Given the description of an element on the screen output the (x, y) to click on. 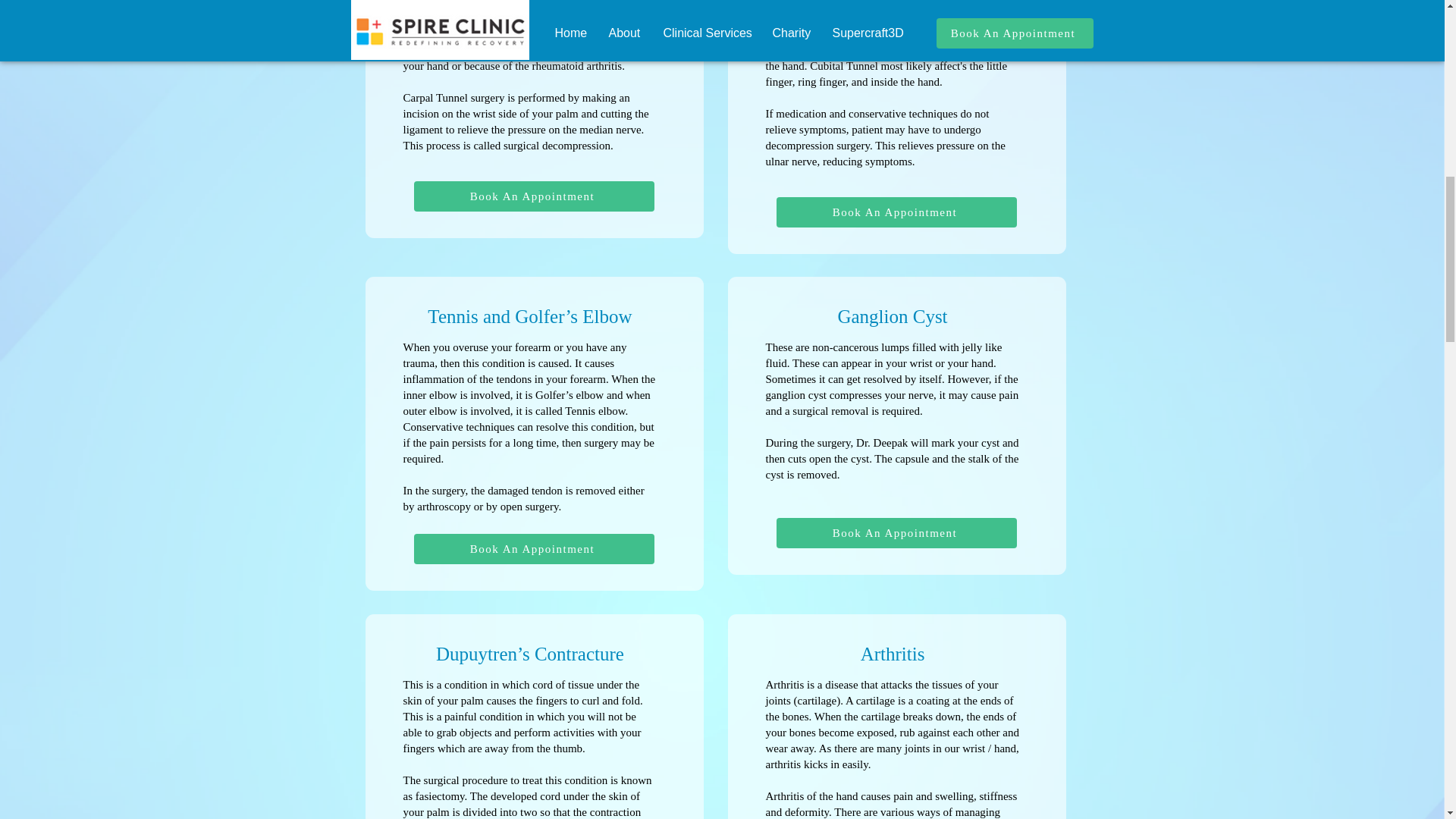
Book An Appointment (533, 195)
Book An Appointment (896, 532)
Book An Appointment (896, 212)
Book An Appointment (533, 548)
